Given the description of an element on the screen output the (x, y) to click on. 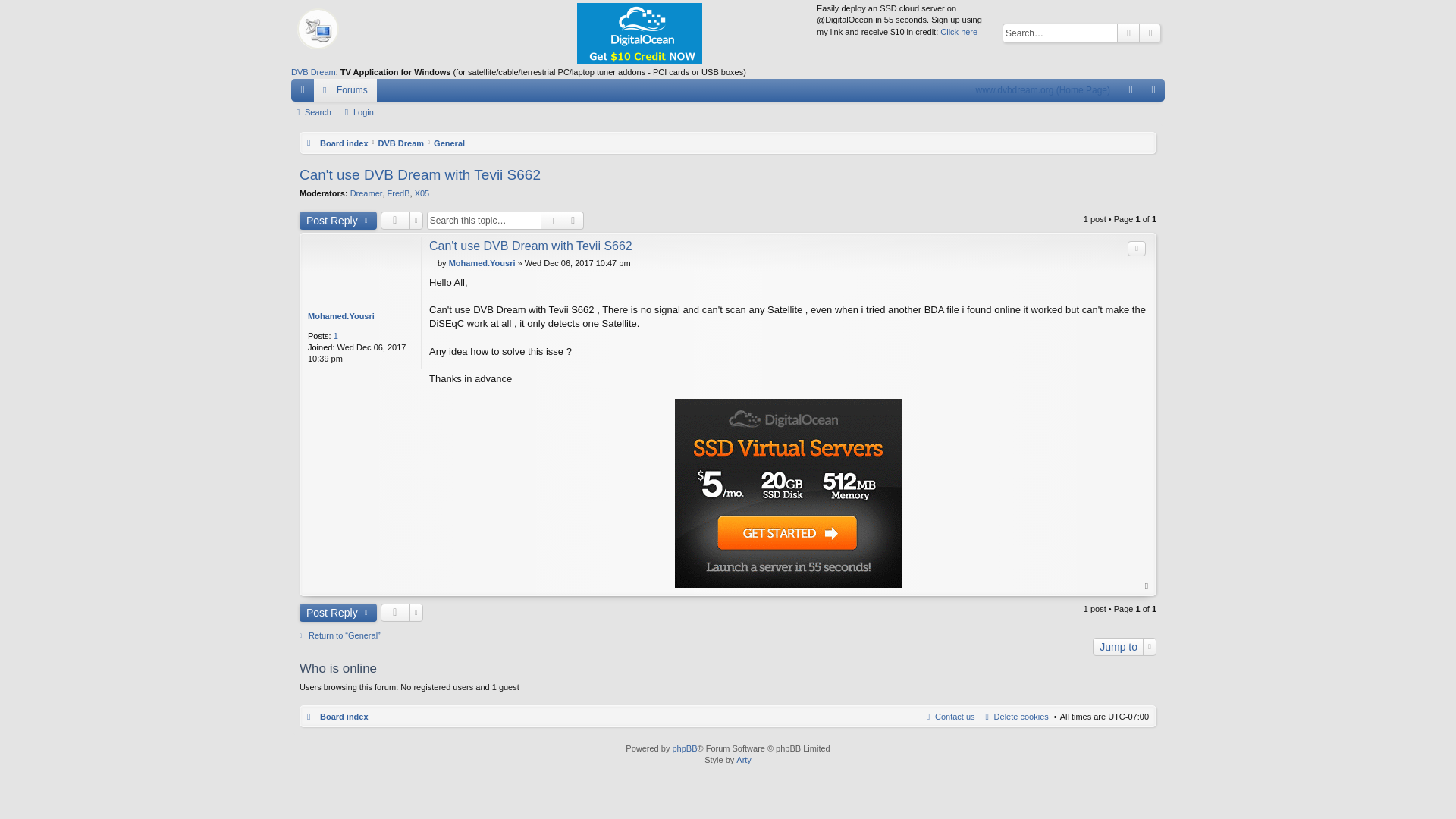
Forums (345, 89)
FredB (398, 193)
DVB Dream (401, 143)
Top (1146, 585)
Board index (337, 143)
General (448, 143)
Search for keywords (1059, 33)
Advanced search (573, 220)
Search (1128, 33)
Login (359, 112)
Search (314, 112)
Search (1128, 33)
Quick links (302, 89)
Can't use DVB Dream with Tevii S662 (419, 174)
Reply with quote (1135, 248)
